Given the description of an element on the screen output the (x, y) to click on. 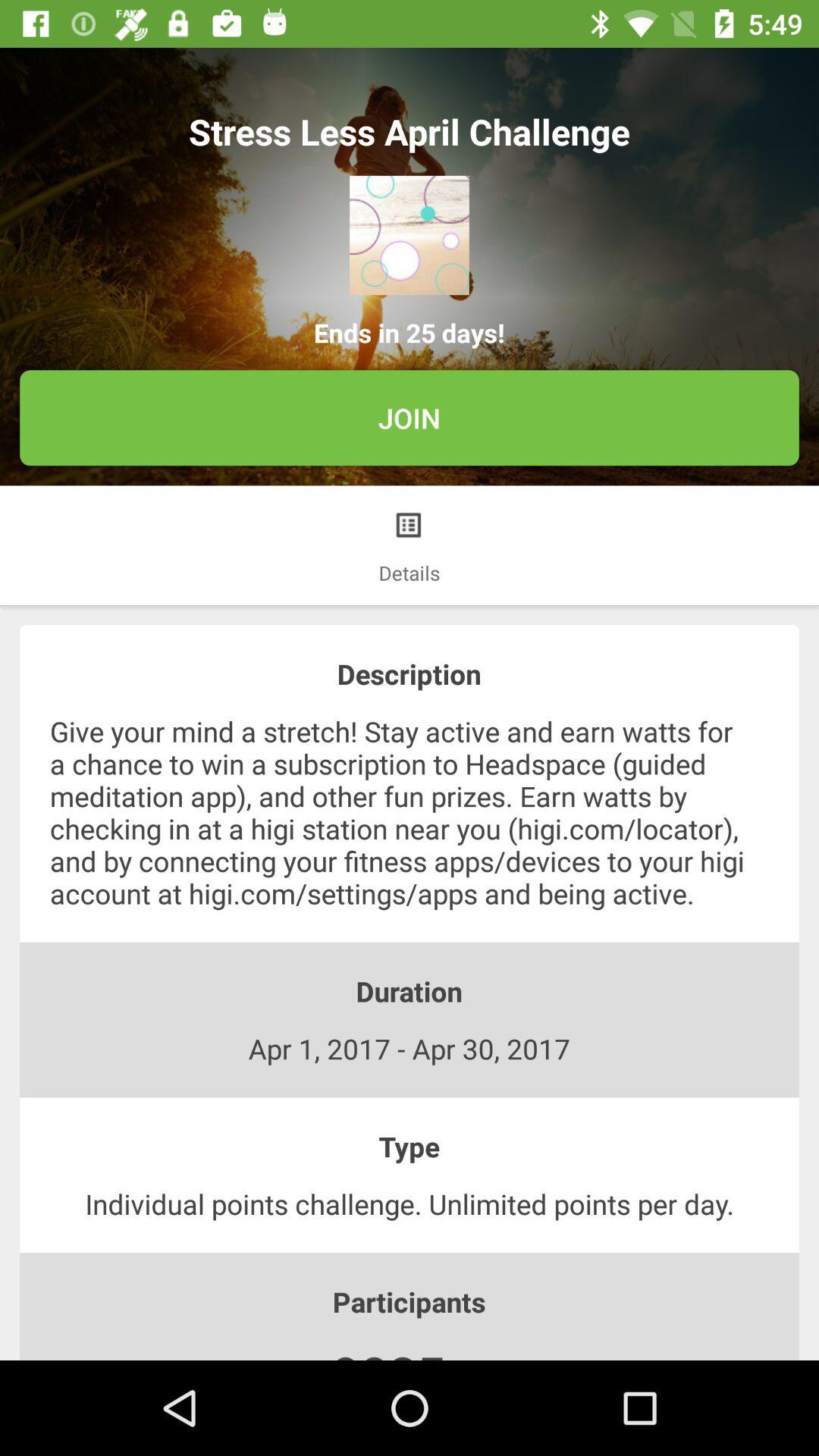
launch the item below ends in 25 item (409, 417)
